Given the description of an element on the screen output the (x, y) to click on. 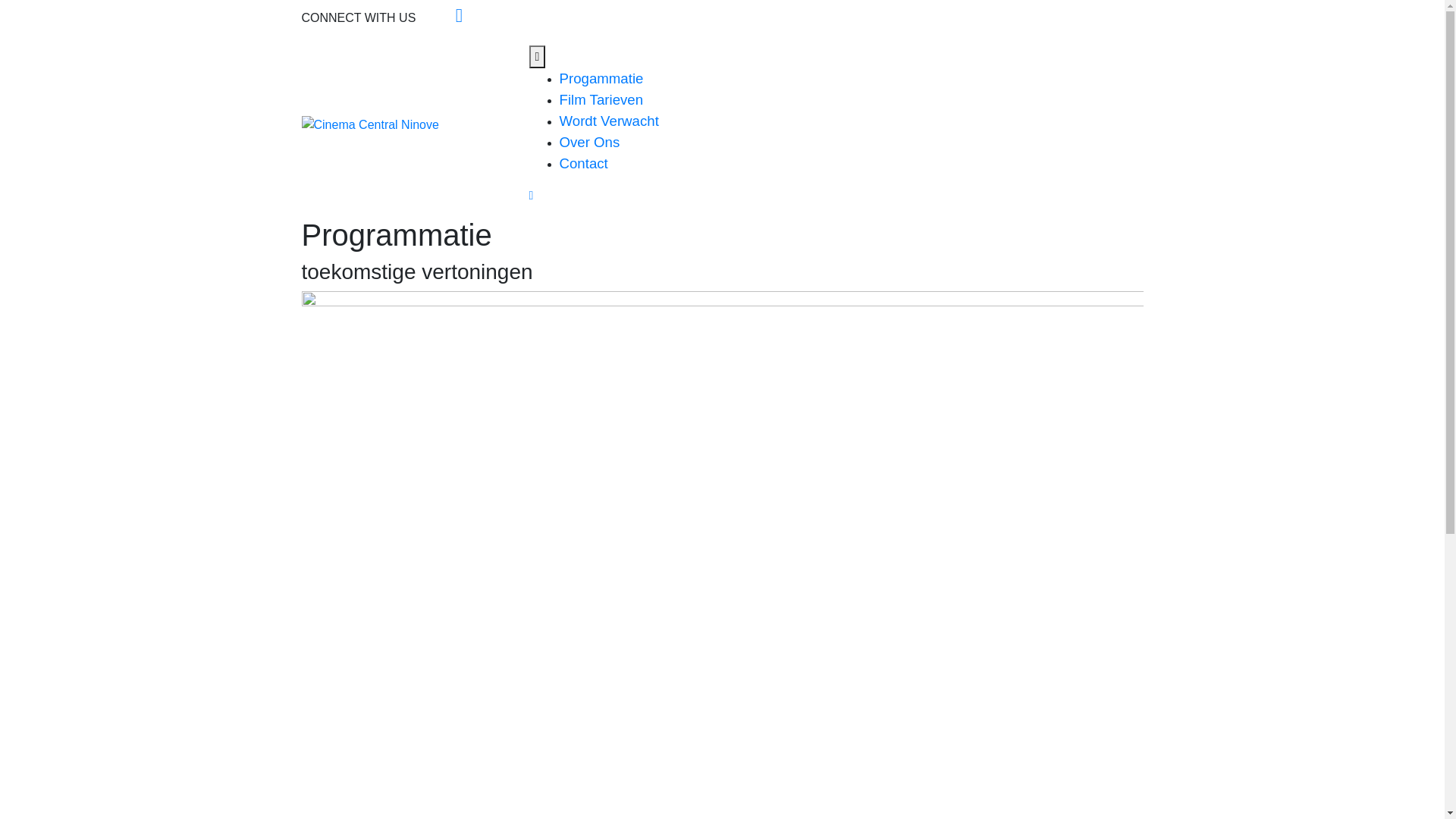
Over Ons Element type: text (589, 142)
Open Button Element type: text (537, 56)
Contact Element type: text (583, 163)
Progammatie Element type: text (601, 78)
Wordt Verwacht Element type: text (608, 120)
Film Tarieven Element type: text (601, 99)
Close Button Element type: text (531, 194)
